Given the description of an element on the screen output the (x, y) to click on. 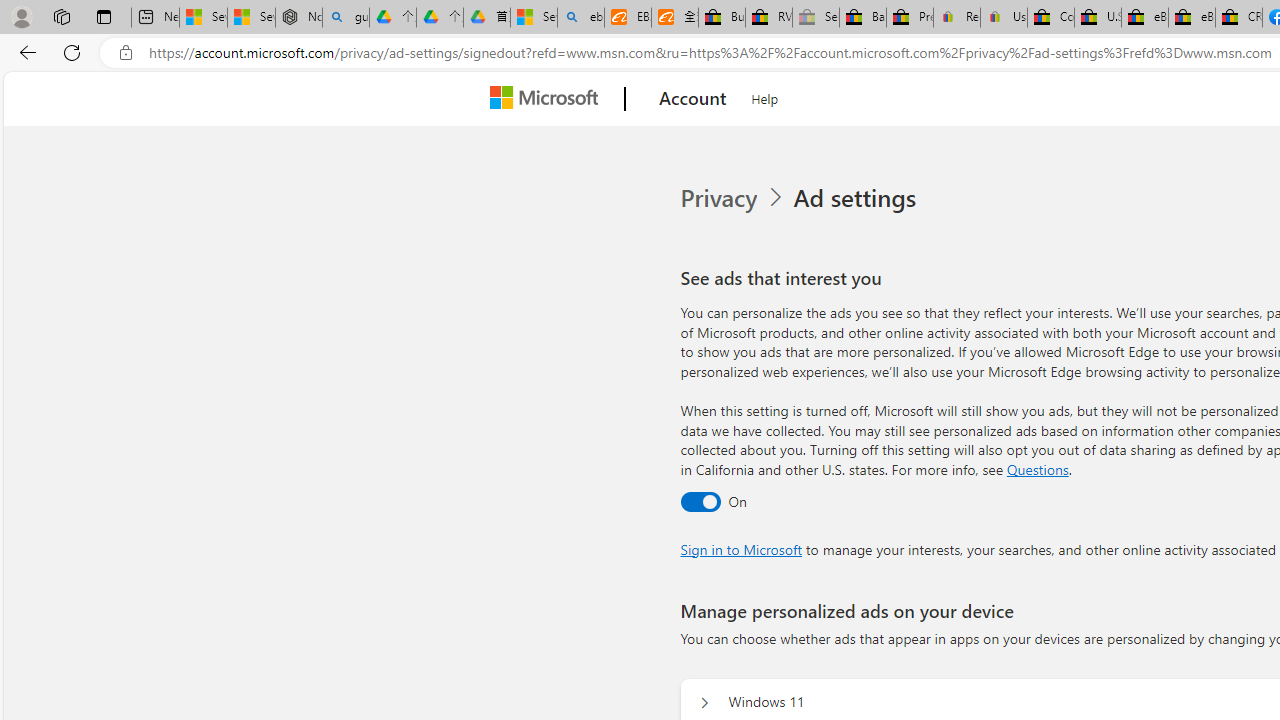
Ad settings (858, 197)
U.S. State Privacy Disclosures - eBay Inc. (1098, 17)
Microsoft (548, 99)
Buy Auto Parts & Accessories | eBay (721, 17)
guge yunpan - Search (345, 17)
